Given the description of an element on the screen output the (x, y) to click on. 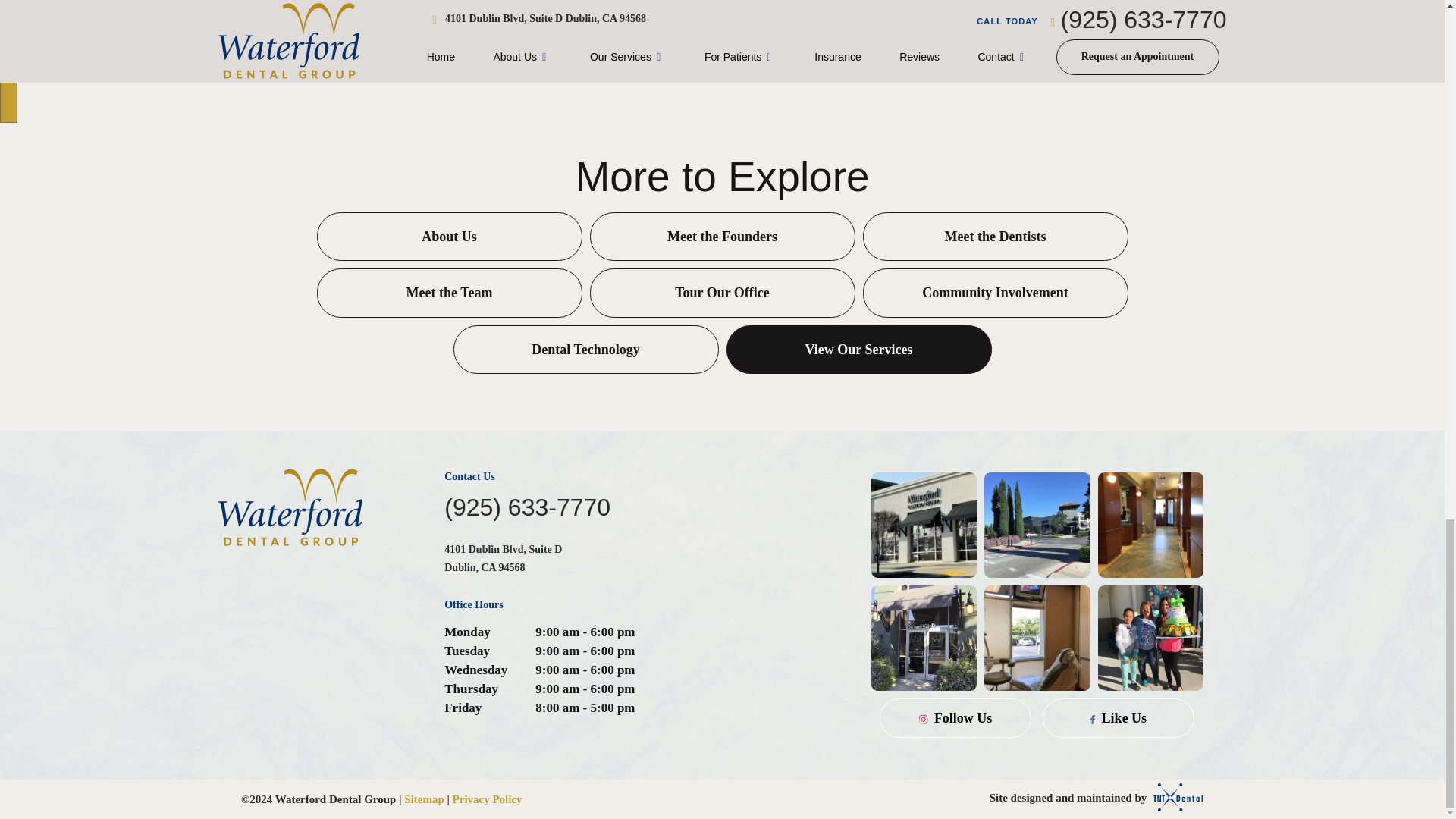
Tour Our Office (722, 292)
View Our Services (858, 349)
Meet the Team (449, 292)
Meet the Founders (722, 236)
About Us (449, 236)
Dental Technology (585, 349)
Community Involvement (995, 292)
Meet the Dentists (995, 236)
